Given the description of an element on the screen output the (x, y) to click on. 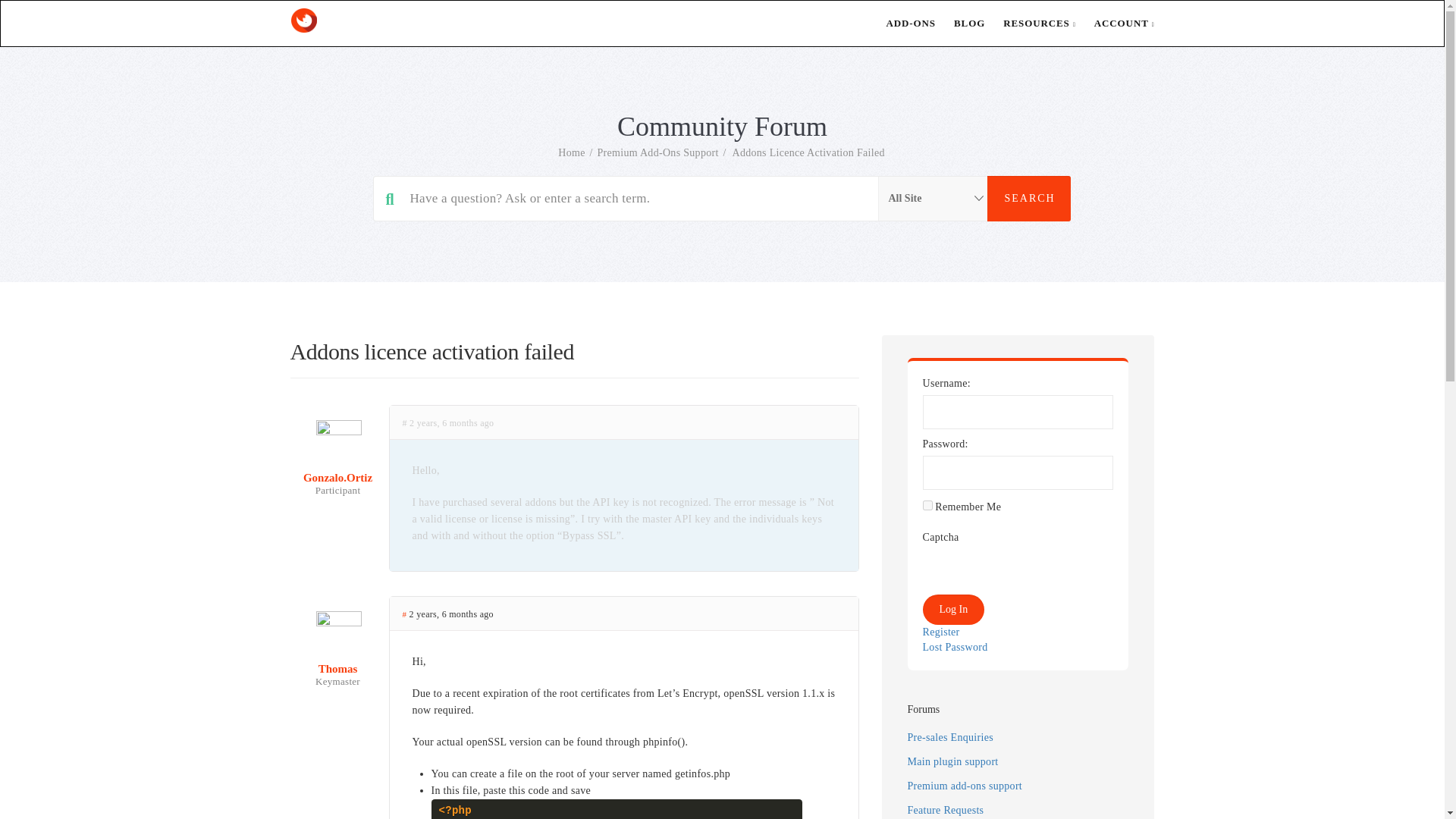
Search (1028, 198)
RESOURCES (1030, 22)
Register (940, 631)
View Thomas's profile (337, 657)
Lost Password (954, 647)
Register (940, 631)
Gonzalo.Ortiz (337, 465)
Premium Add-Ons Support (657, 152)
BLOG (960, 22)
Thomas (337, 657)
forever (926, 505)
Home (571, 152)
Log In (952, 609)
View gonzalo.ortiz's profile (337, 465)
ADD-ONS (901, 22)
